Given the description of an element on the screen output the (x, y) to click on. 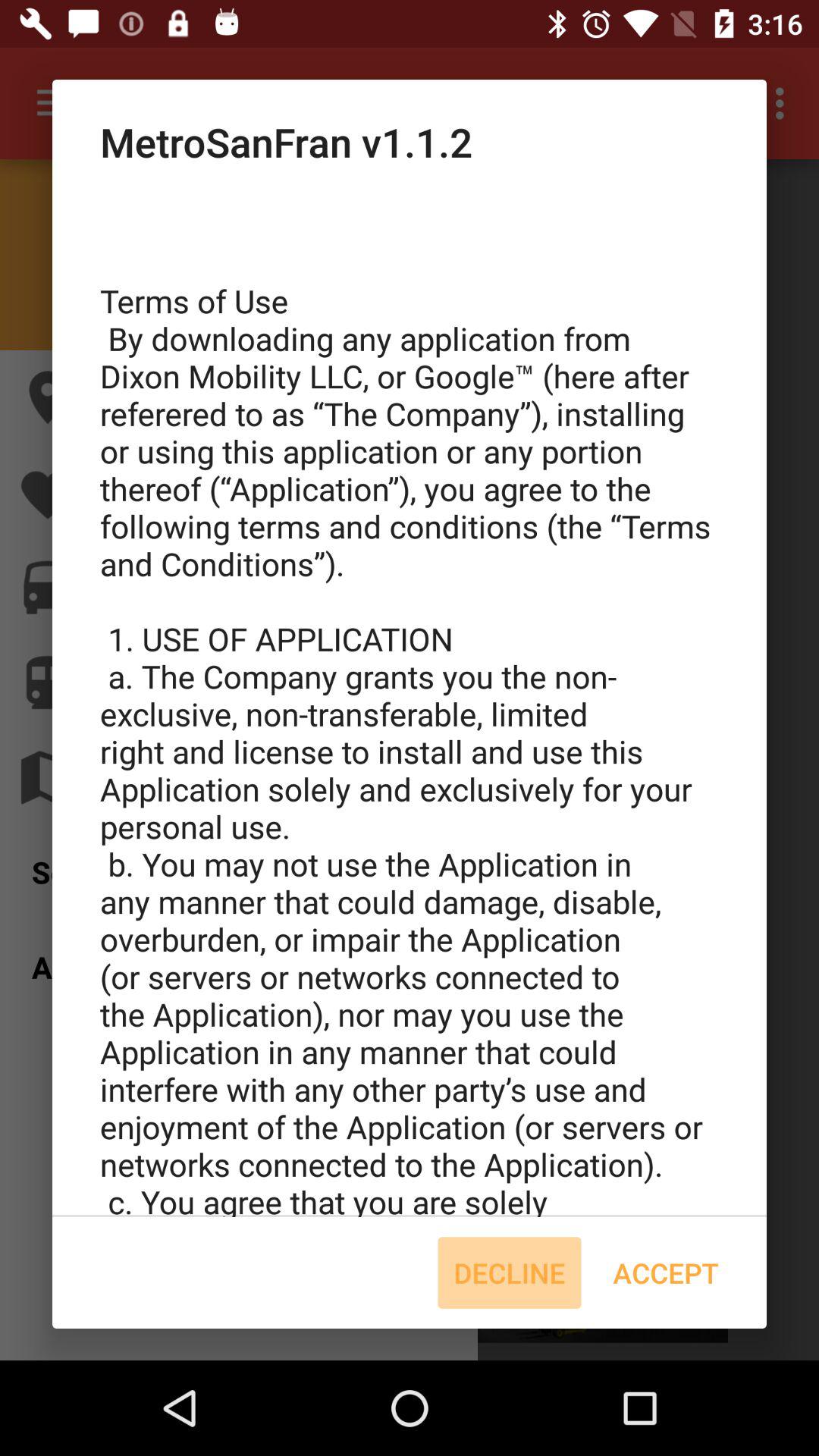
jump until the decline icon (509, 1272)
